Given the description of an element on the screen output the (x, y) to click on. 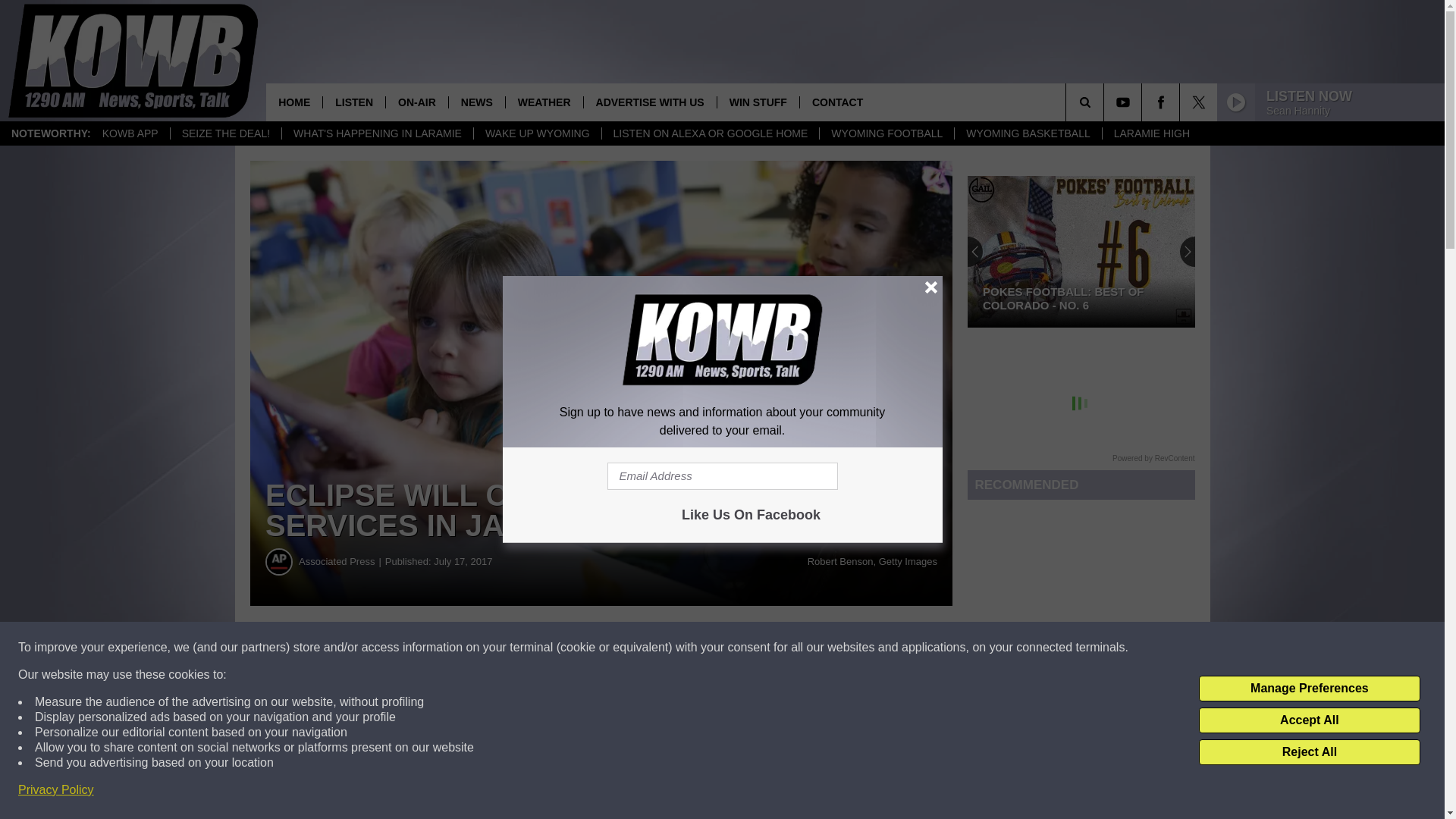
LARAMIE HIGH (1151, 133)
Email Address (722, 475)
WHAT'S HAPPENING IN LARAMIE (377, 133)
LISTEN ON ALEXA OR GOOGLE HOME (710, 133)
LISTEN (353, 102)
Share on Twitter (741, 647)
SEARCH (1106, 102)
Share on Facebook (460, 647)
HOME (293, 102)
Privacy Policy (55, 789)
ON-AIR (416, 102)
Manage Preferences (1309, 688)
WAKE UP WYOMING (537, 133)
WYOMING FOOTBALL (885, 133)
WYOMING BASKETBALL (1026, 133)
